Given the description of an element on the screen output the (x, y) to click on. 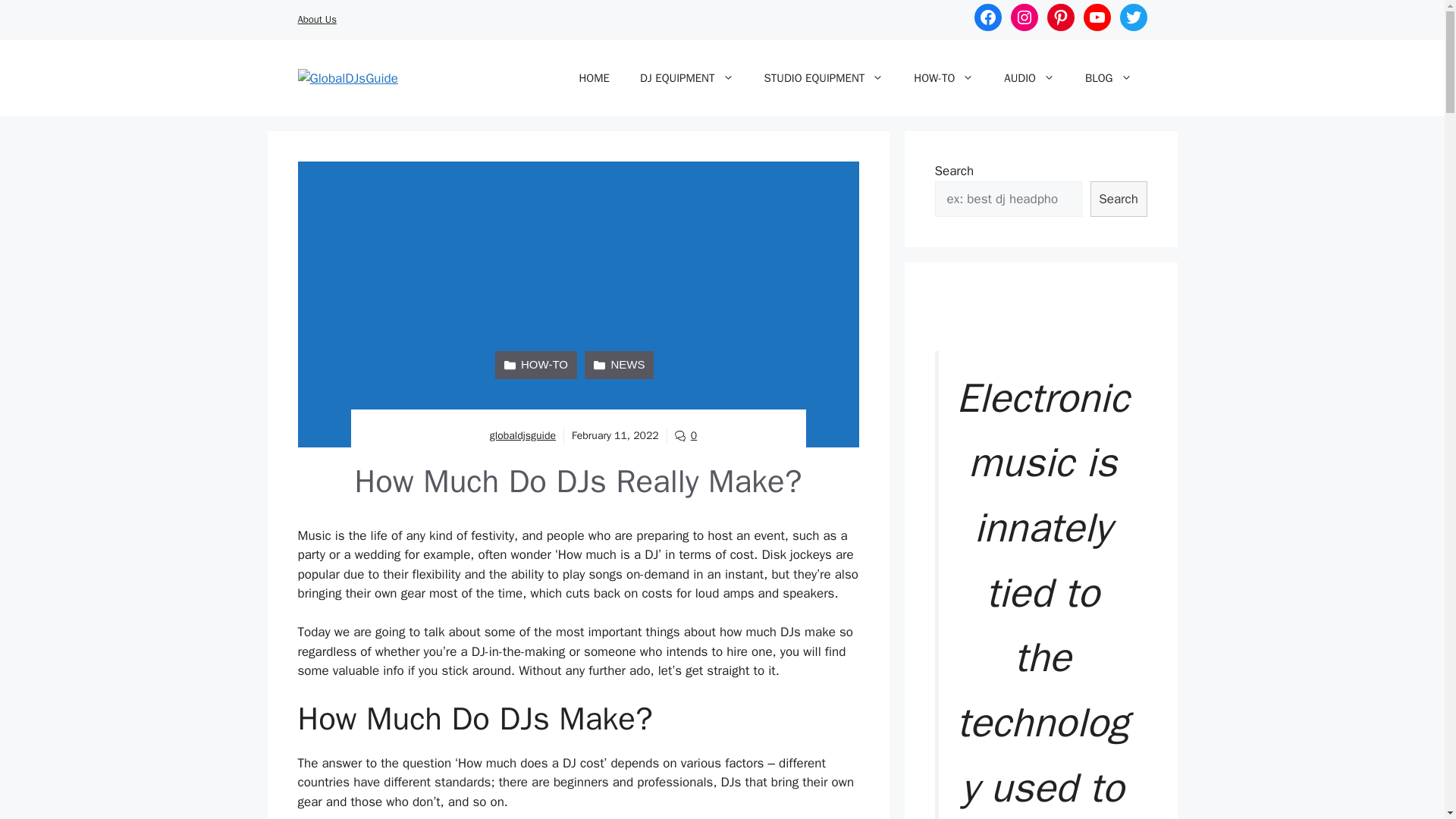
DJ EQUIPMENT (686, 77)
Instagram (1023, 17)
Facebook (987, 17)
YouTube (1096, 17)
HOME (593, 77)
Twitter (1133, 17)
About Us (316, 19)
Pinterest (1060, 17)
